Given the description of an element on the screen output the (x, y) to click on. 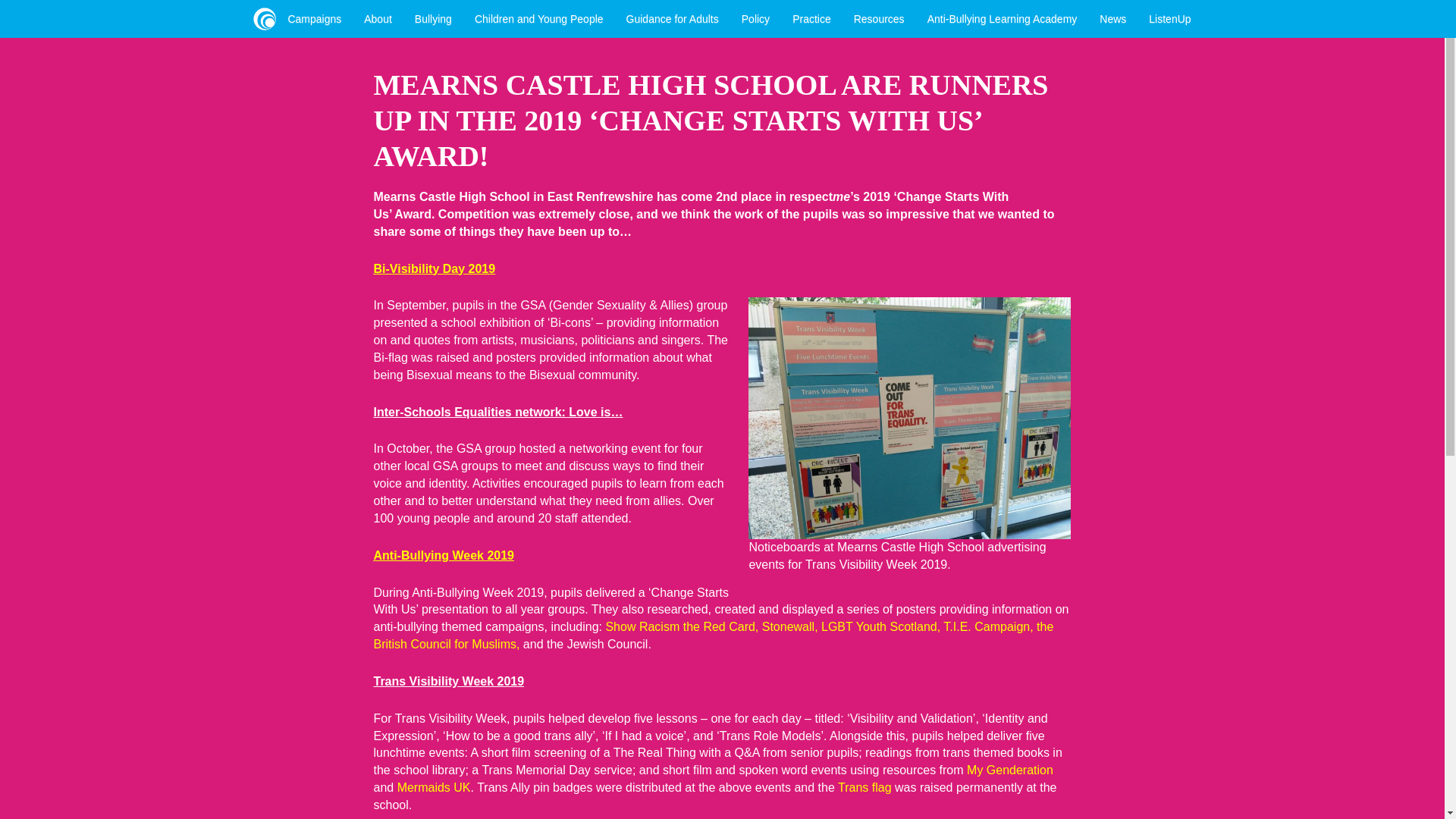
Anti-Bullying Learning Academy (1002, 13)
Guidance for Adults (672, 13)
Resources (879, 13)
About (377, 13)
Children and Young People (538, 13)
Practice (811, 13)
Campaigns (314, 13)
Policy (755, 13)
Bullying (433, 13)
